Given the description of an element on the screen output the (x, y) to click on. 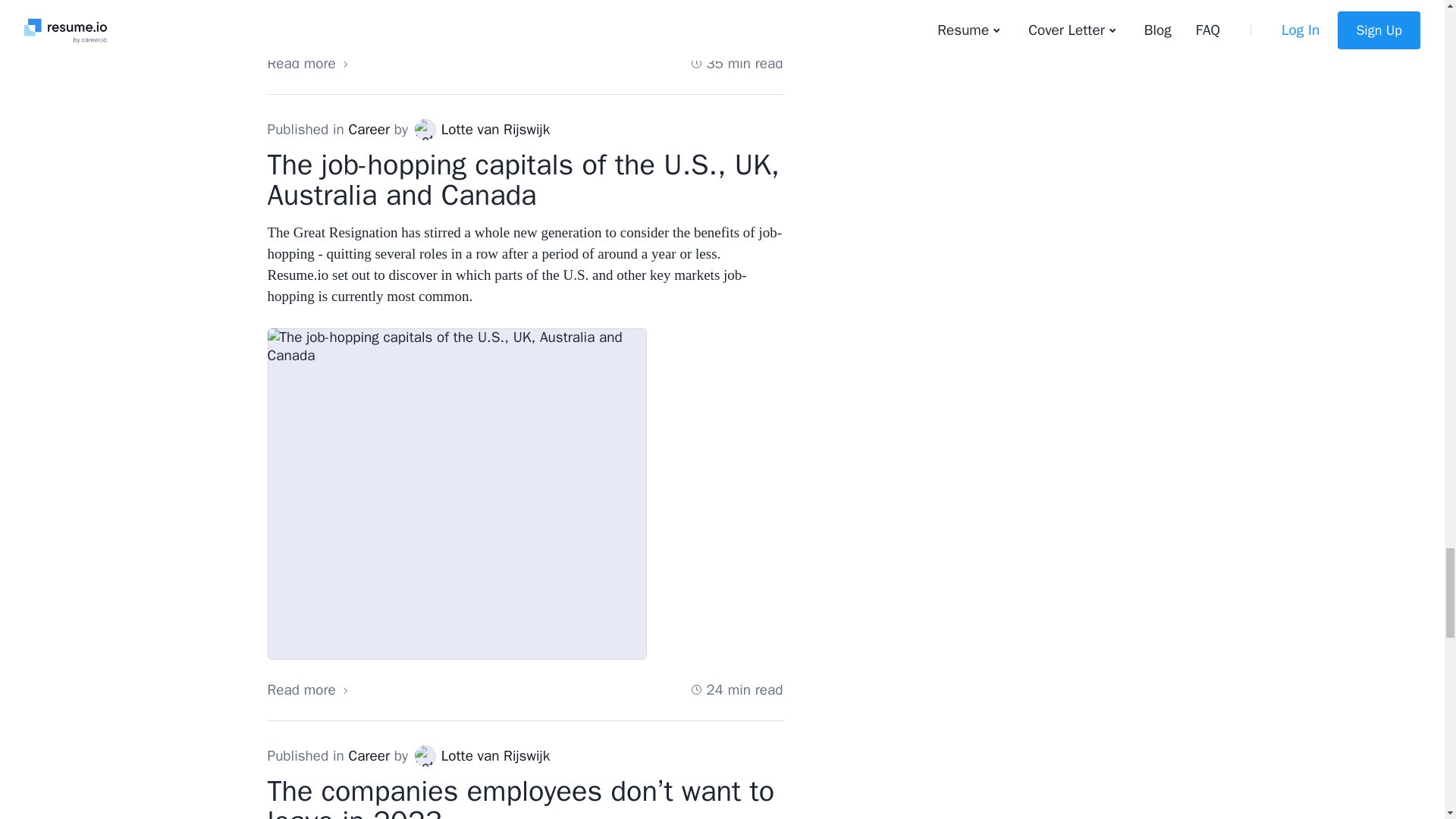
Lotte van Rijswijk (424, 128)
Lotte van Rijswijk (424, 755)
